Given the description of an element on the screen output the (x, y) to click on. 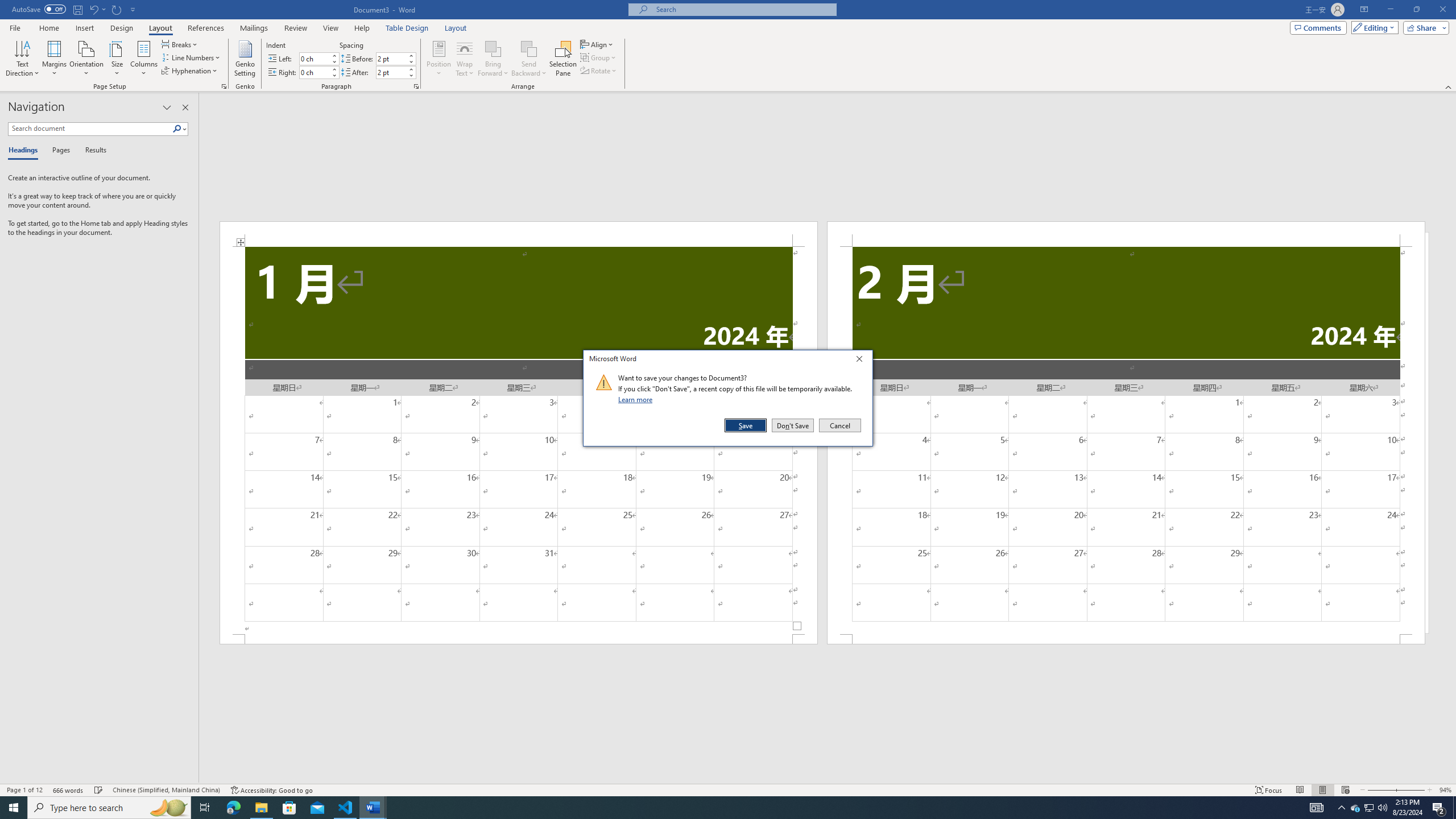
Close pane (185, 107)
Review (295, 28)
Genko Setting... (244, 58)
Text Direction (22, 58)
Quick Access Toolbar (74, 9)
Comments (1318, 27)
Header -Section 1- (518, 233)
Line Numbers (191, 56)
Task View (204, 807)
Send Backward (528, 48)
Undo Increase Indent (96, 9)
Class: NetUIImage (603, 382)
Wrap Text (464, 58)
Collapse the Ribbon (1448, 86)
